Given the description of an element on the screen output the (x, y) to click on. 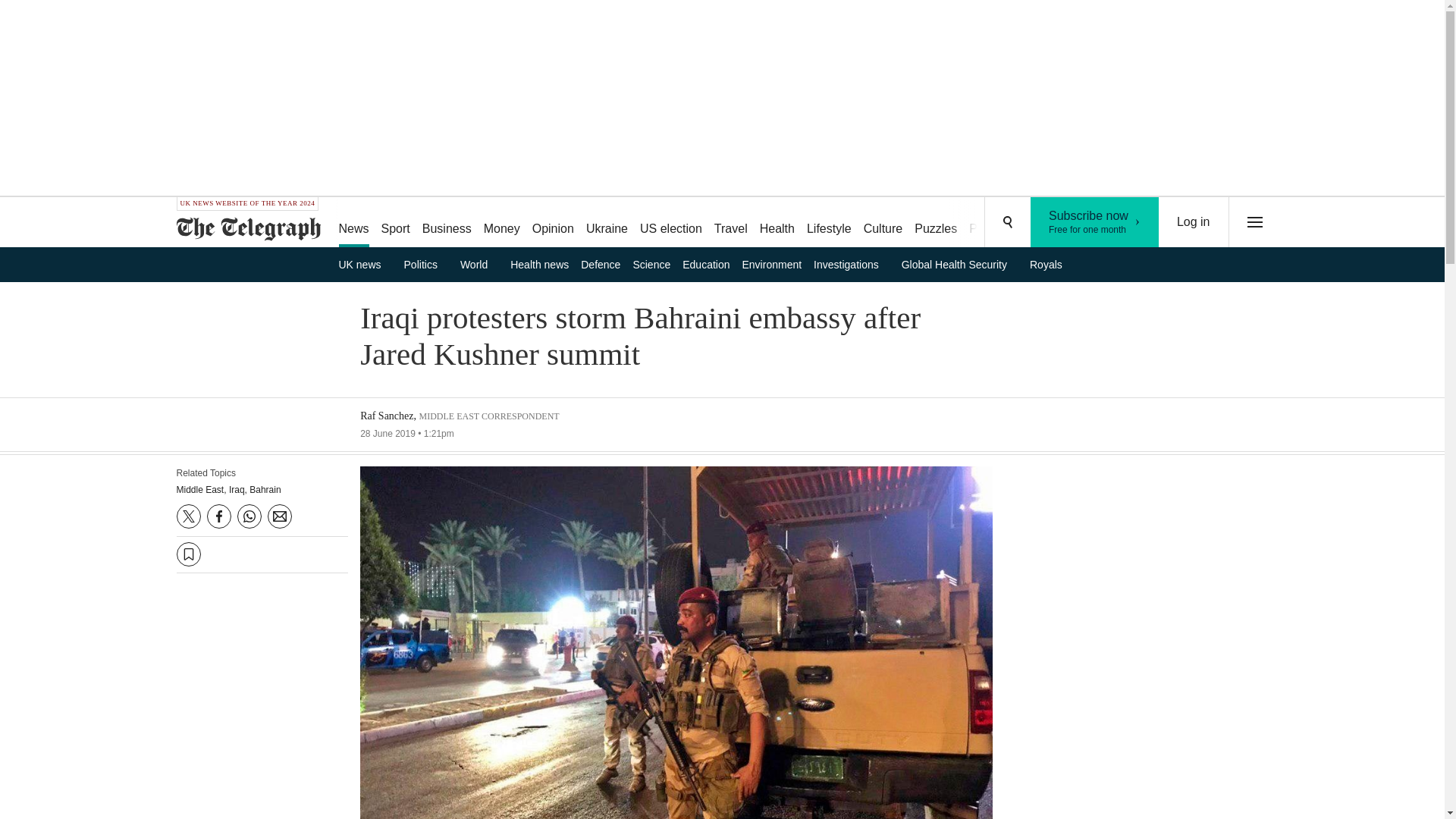
Log in (1193, 222)
Puzzles (1094, 222)
Business (935, 223)
World (446, 223)
Lifestyle (478, 264)
UK news (828, 223)
Politics (364, 264)
Podcasts (425, 264)
Ukraine (993, 223)
